Given the description of an element on the screen output the (x, y) to click on. 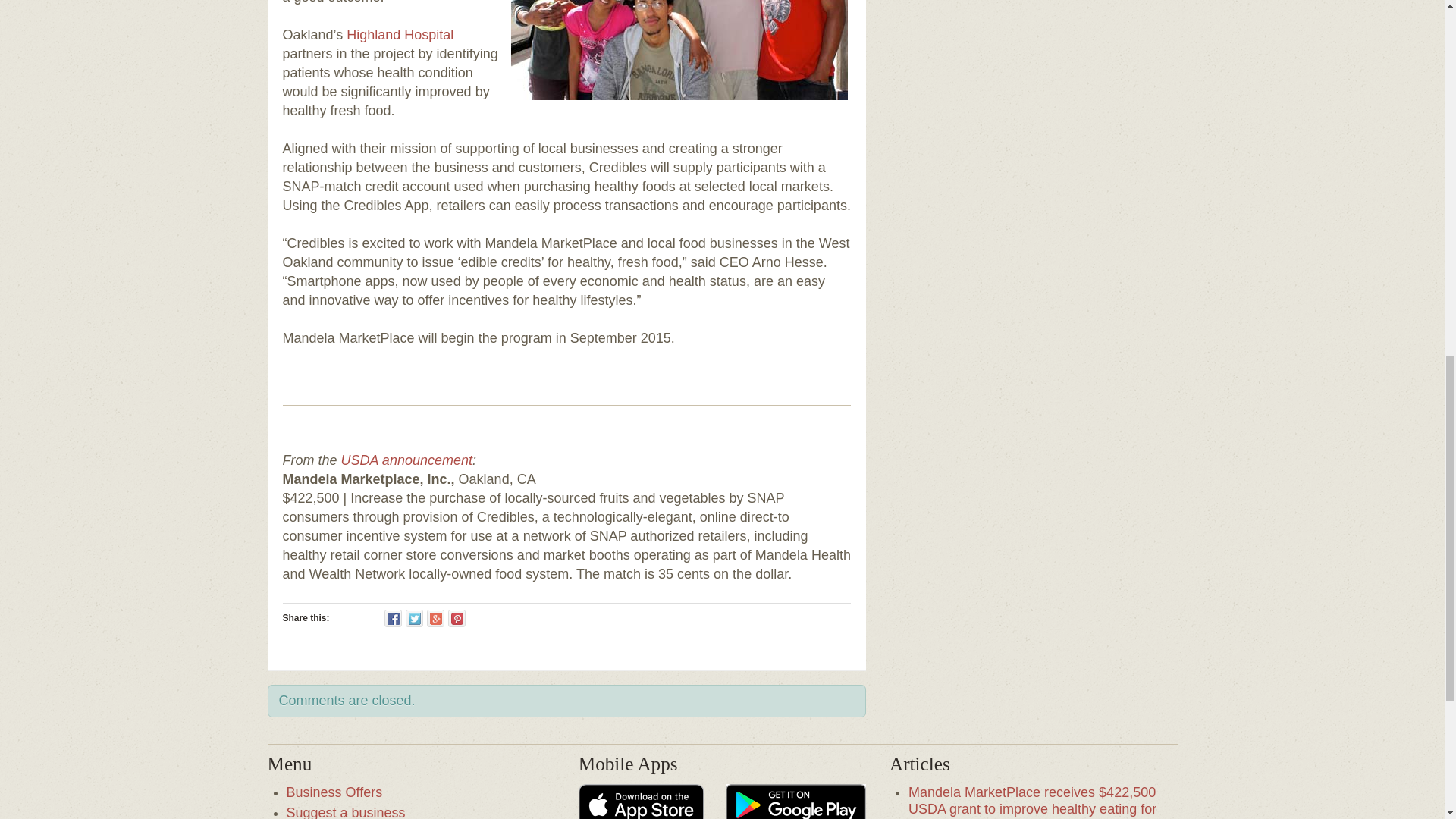
Click to share on Twitter (414, 618)
Highland Hospital (399, 34)
Click to share on Pinterest (456, 618)
Share on Facebook (392, 618)
USDA announcement (405, 459)
